Given the description of an element on the screen output the (x, y) to click on. 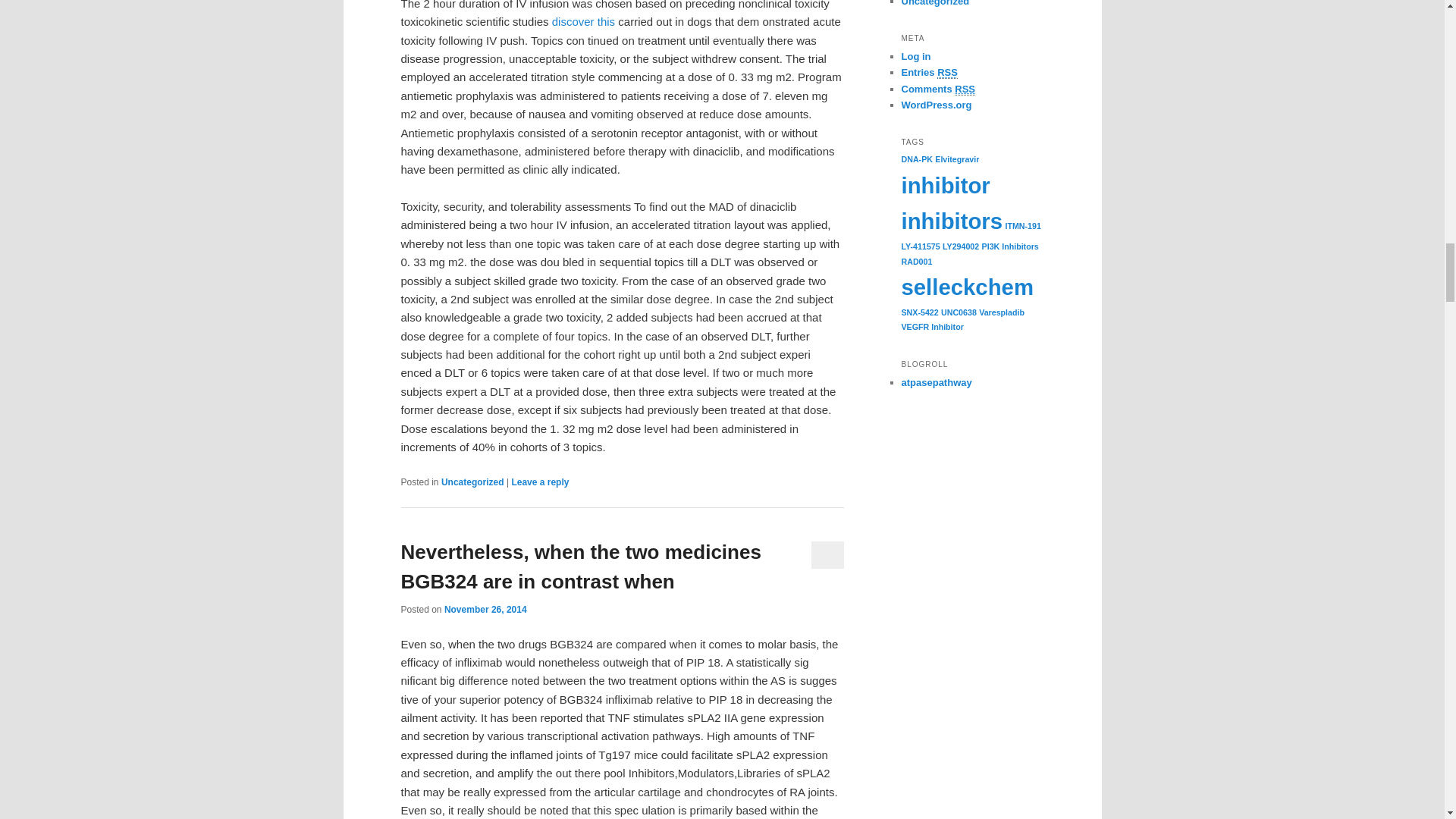
November 26, 2014 (485, 609)
Leave a reply (540, 481)
Uncategorized (472, 481)
discover this (582, 21)
